Given the description of an element on the screen output the (x, y) to click on. 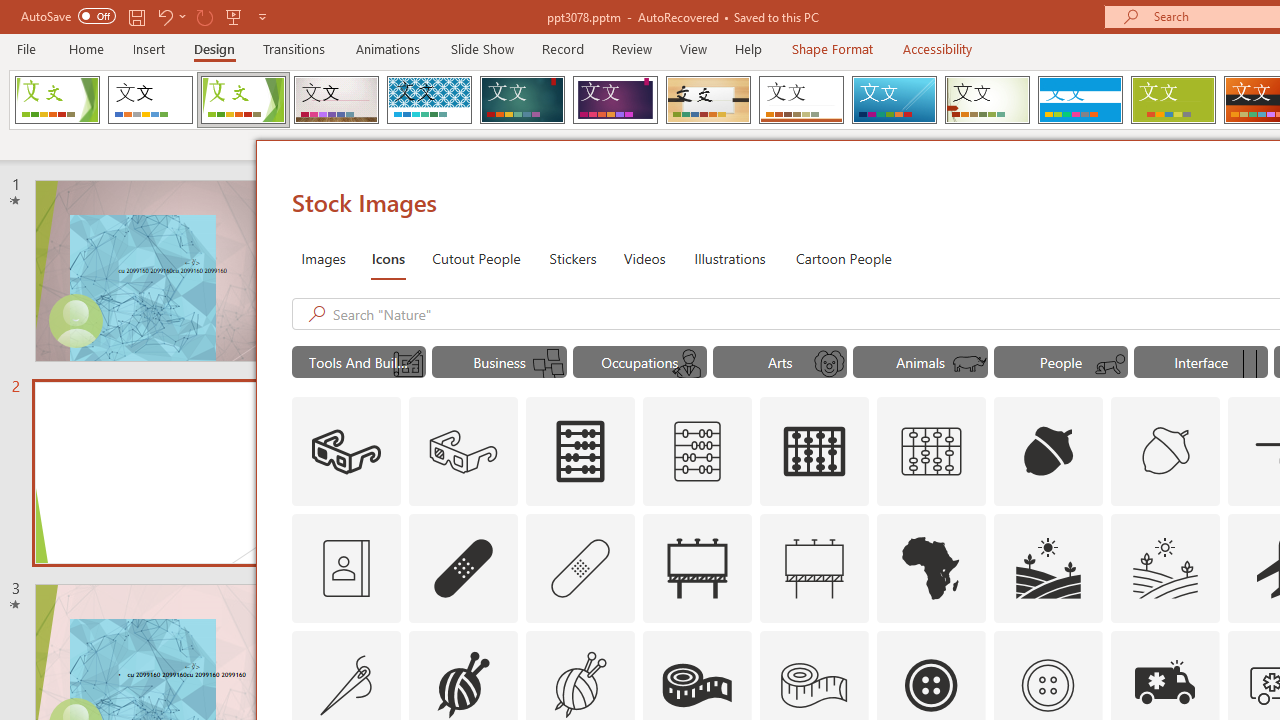
"Animals" Icons. (920, 362)
AutomationID: Icons_BabyCrawling_M (1109, 364)
"Business" Icons. (499, 362)
Facet (243, 100)
AutomationID: Icons_PostitNotes1_M (549, 364)
"Occupations" Icons. (639, 362)
Cutout People (477, 258)
Slice (893, 100)
